Given the description of an element on the screen output the (x, y) to click on. 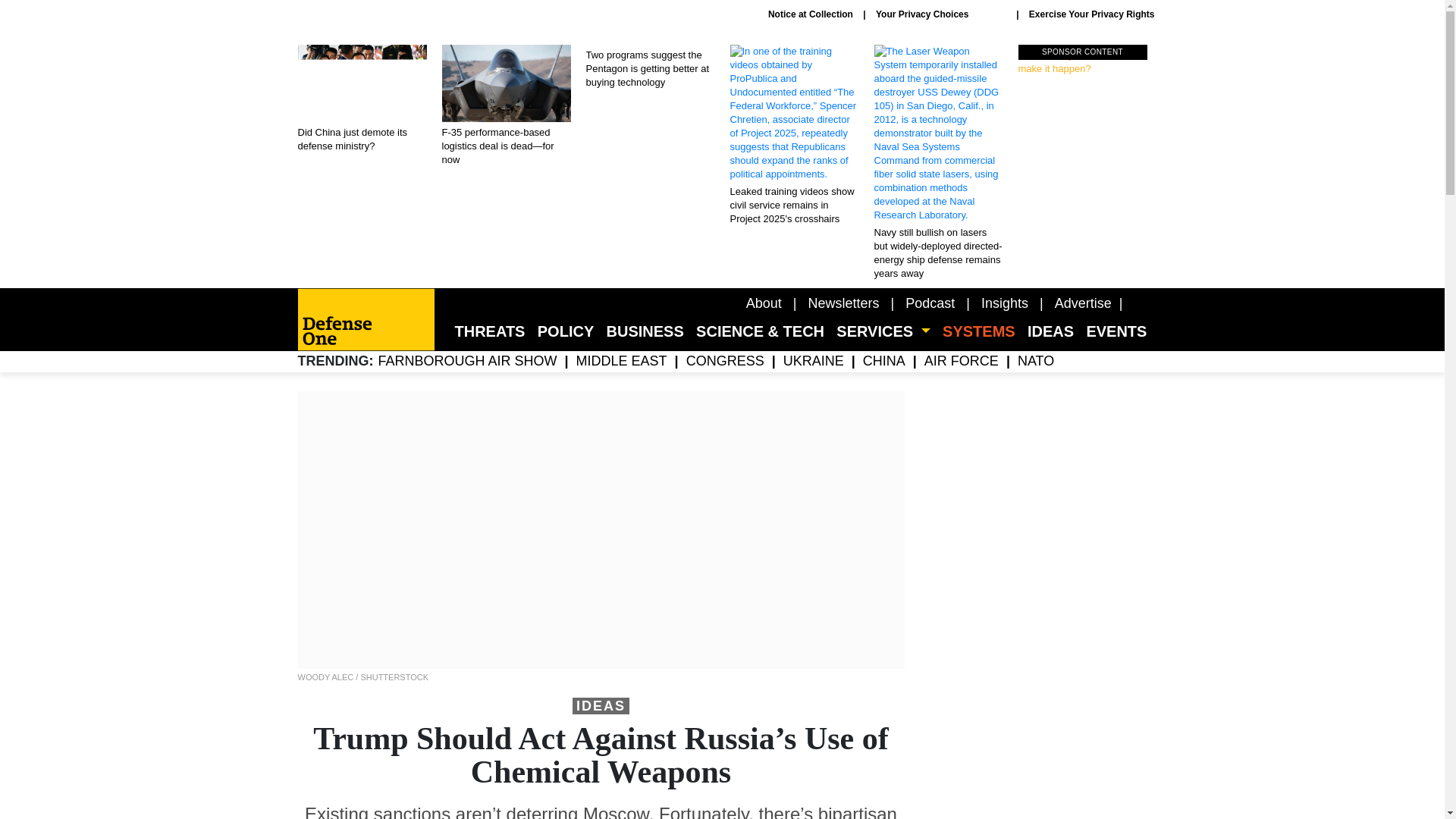
Notice at Collection (810, 14)
About (763, 303)
Did China just demote its defense ministry? (361, 99)
Insights (1004, 303)
Advertise (1083, 303)
Newsletters (1082, 60)
Your Privacy Choices (843, 303)
Exercise Your Privacy Rights (941, 14)
